Given the description of an element on the screen output the (x, y) to click on. 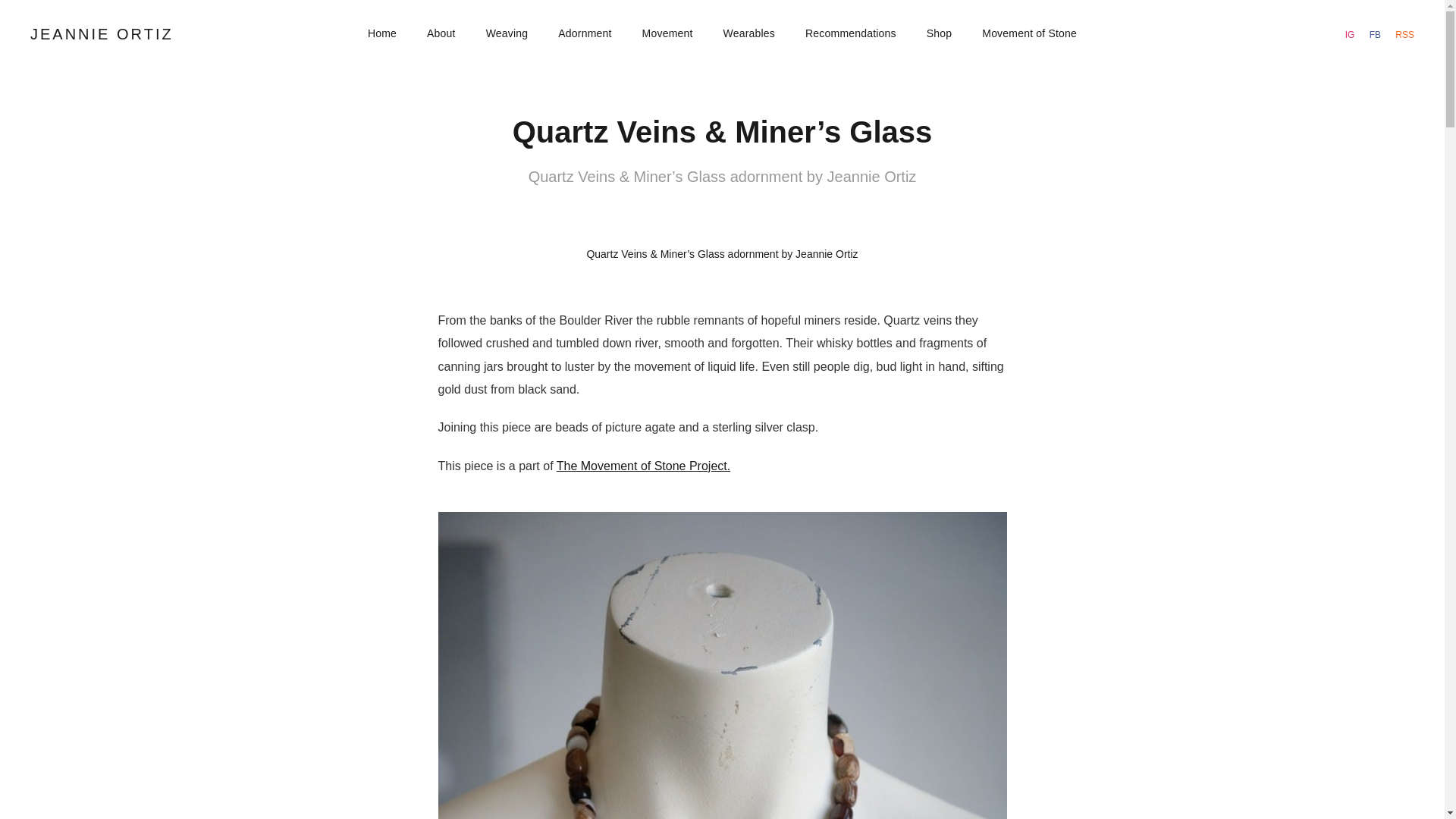
JEANNIE ORTIZ (101, 33)
RSS (1405, 34)
FB (1376, 34)
IG (1350, 34)
Movement of Stone (1029, 33)
Wearables (749, 33)
The Movement of Stone Project. (643, 465)
Adornment (584, 33)
Weaving (507, 33)
Shop (938, 33)
